Given the description of an element on the screen output the (x, y) to click on. 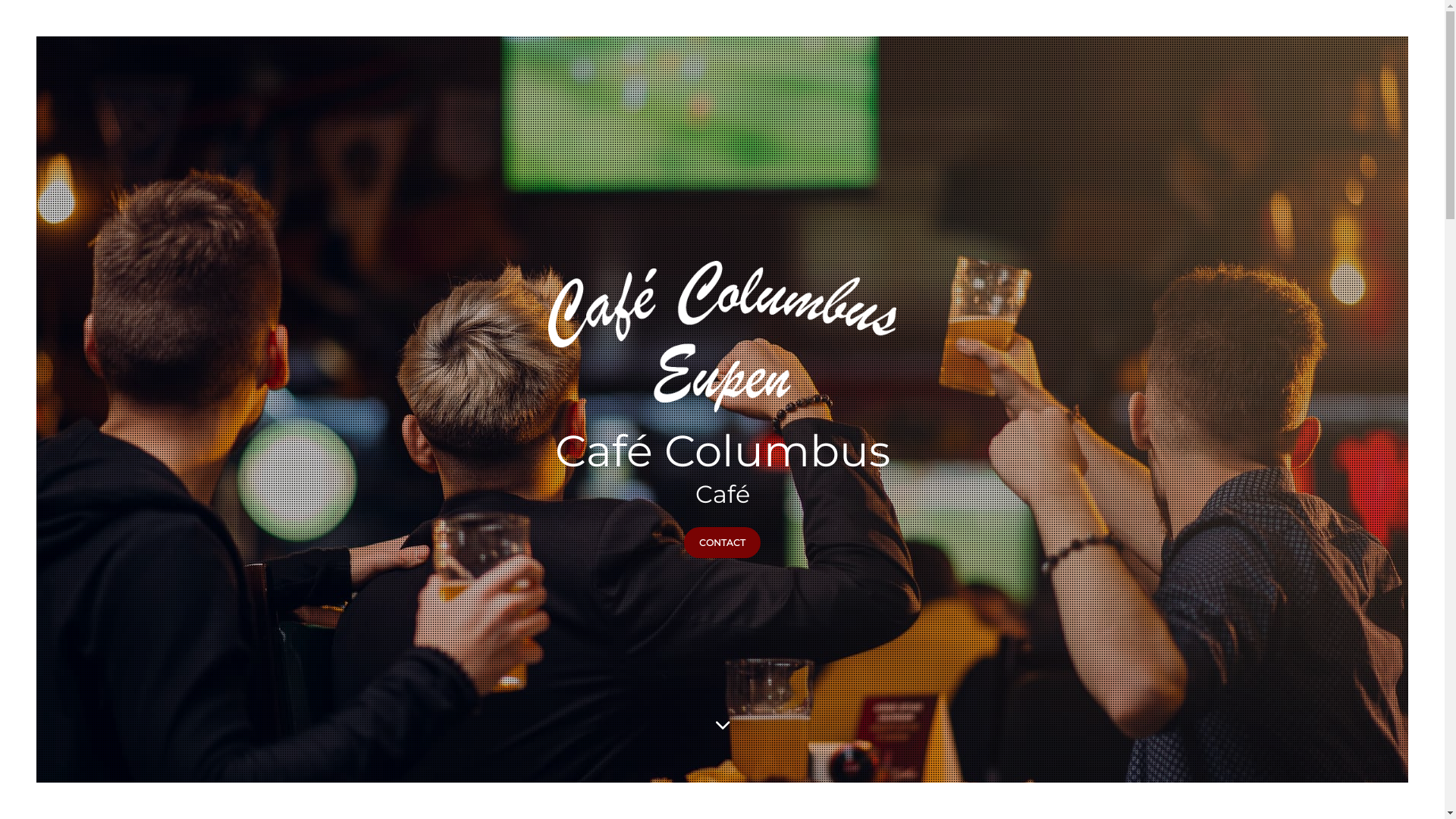
CONTACT Element type: text (722, 542)
